Given the description of an element on the screen output the (x, y) to click on. 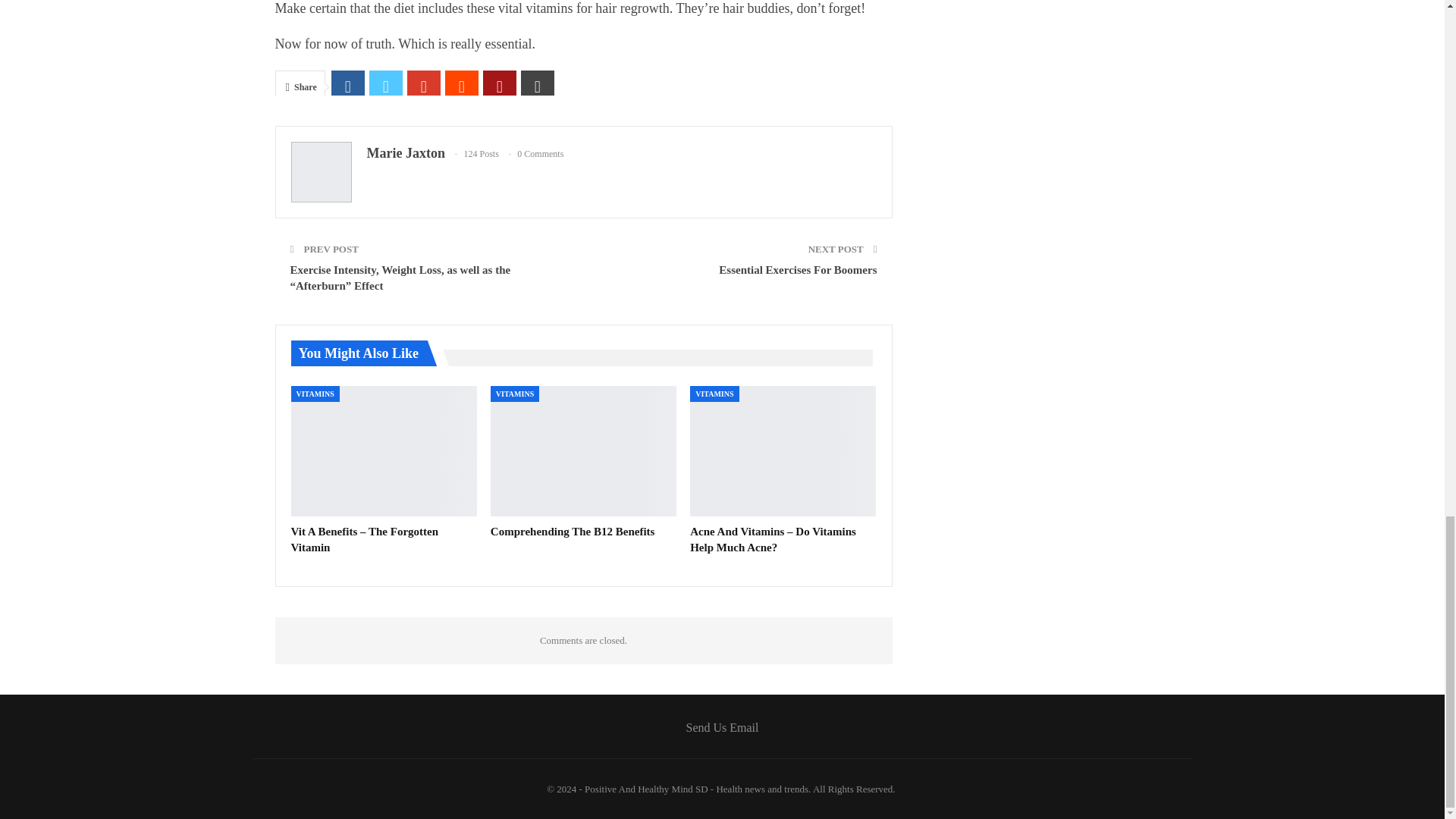
Essential Exercises For Boomers (797, 269)
Comprehending The B12 Benefits (572, 531)
Comprehending The B12 Benefits (583, 450)
Marie Jaxton (405, 152)
VITAMINS (315, 393)
You Might Also Like (365, 353)
